Given the description of an element on the screen output the (x, y) to click on. 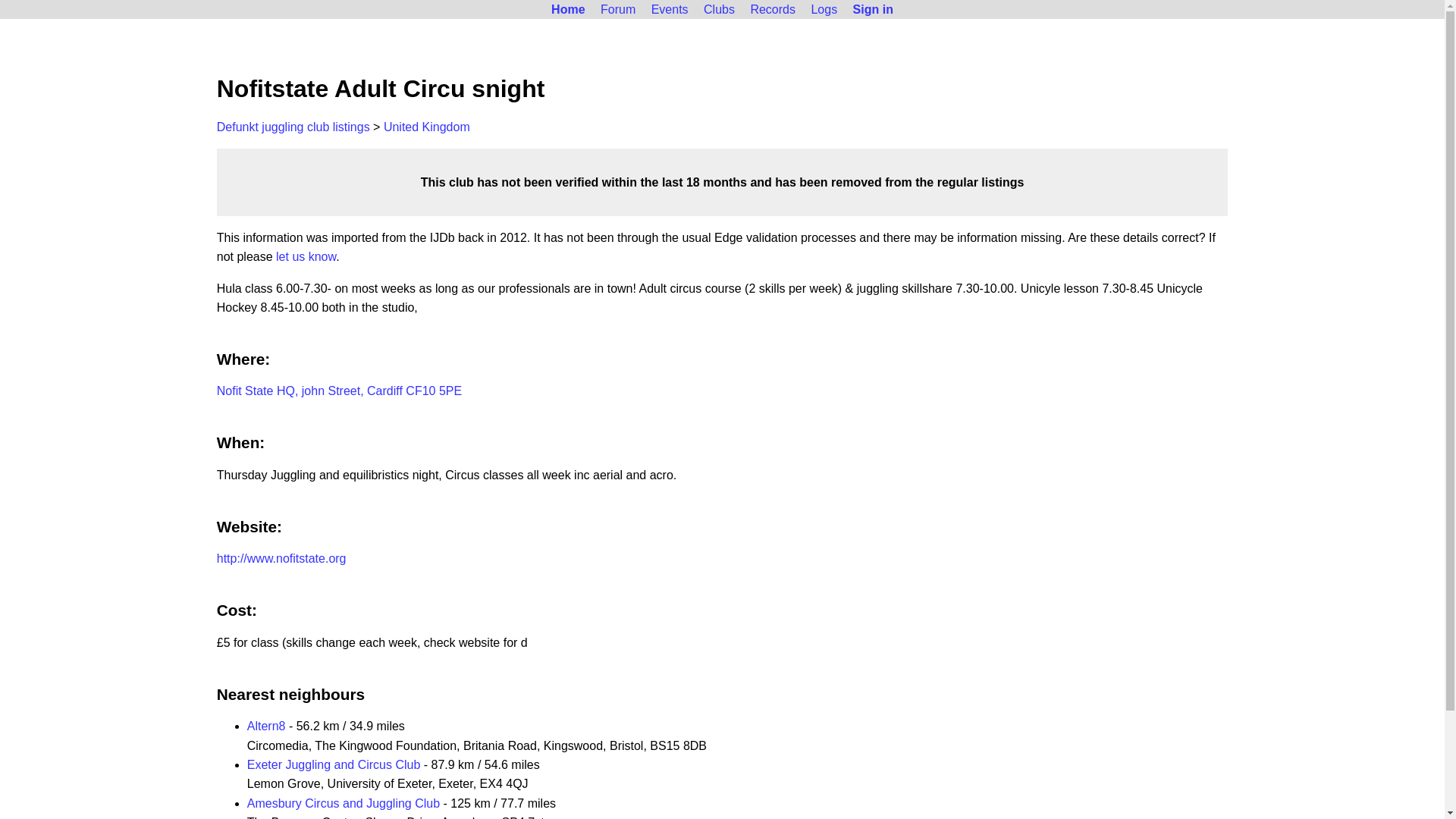
Logs (824, 8)
Sign in (873, 8)
Forum (618, 8)
Home (567, 8)
Altern8 (266, 725)
Nofit State HQ, john Street, Cardiff CF10 5PE (338, 390)
Amesbury Circus and Juggling Club (343, 802)
Exeter Juggling and Circus Club (333, 764)
United Kingdom (427, 126)
Clubs (719, 8)
